Given the description of an element on the screen output the (x, y) to click on. 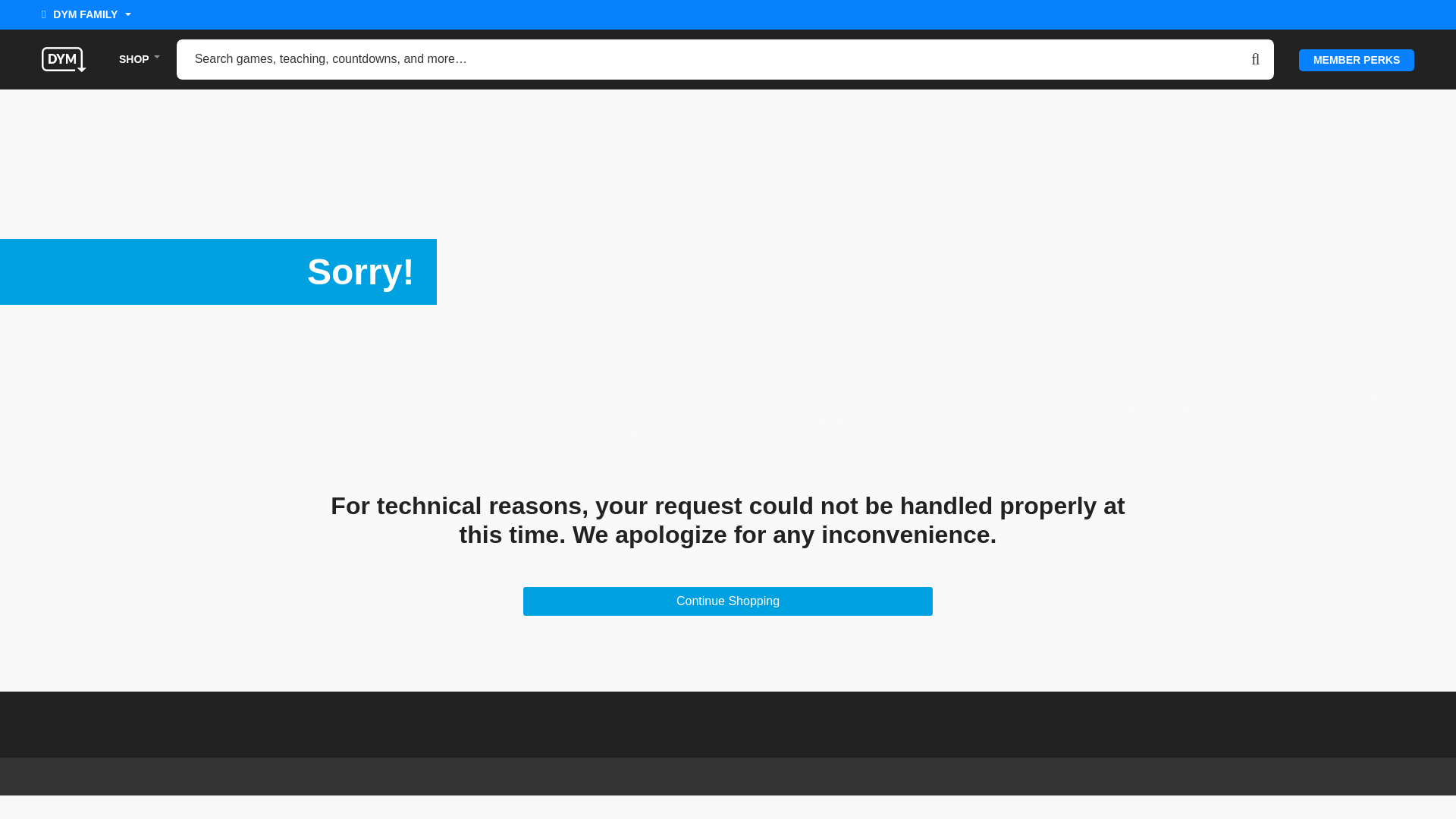
SHOP (134, 59)
Commerce Cloud Storefront Reference Architecture Home (63, 58)
DYM FAMILY (86, 17)
